Given the description of an element on the screen output the (x, y) to click on. 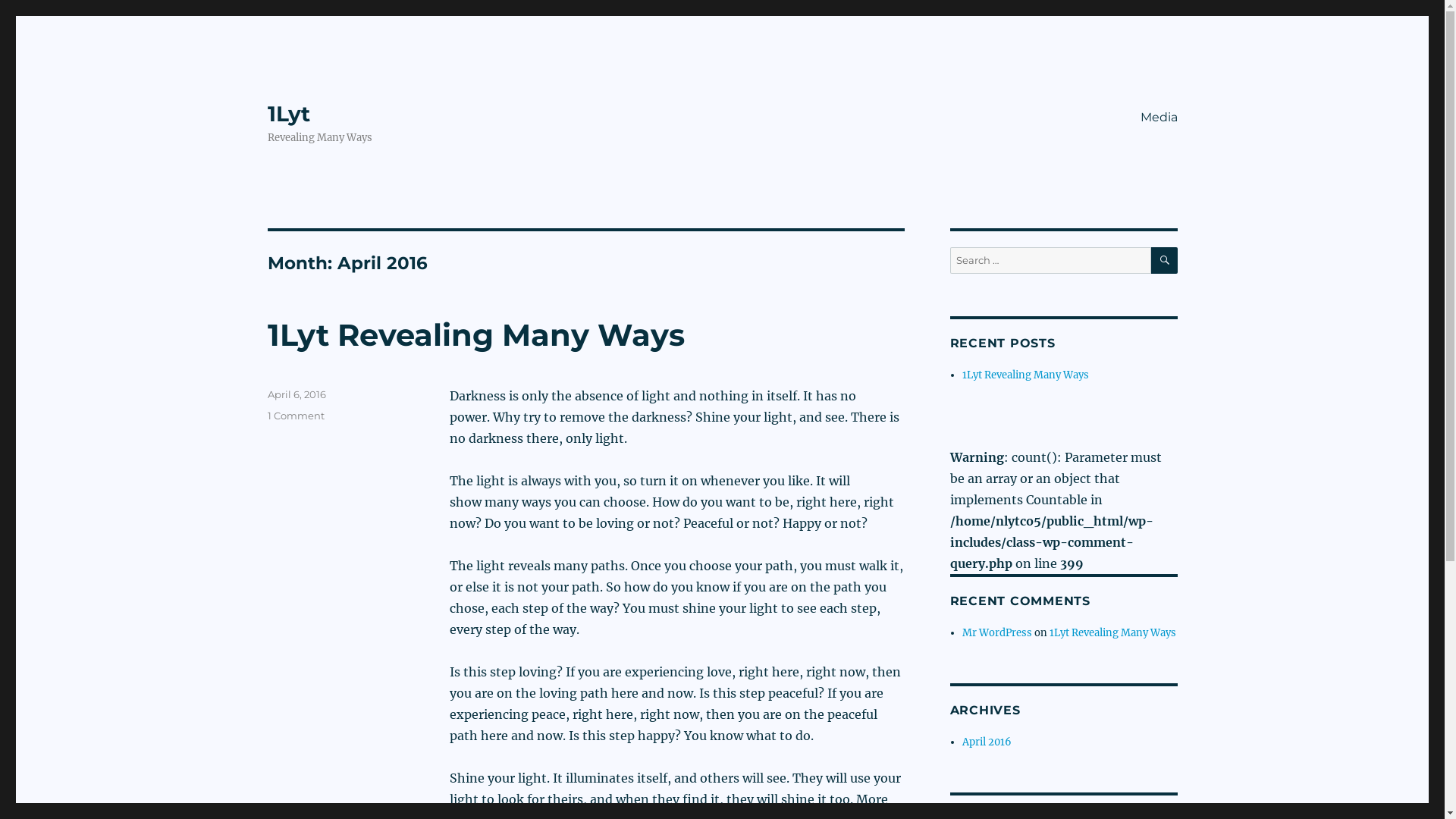
Mr WordPress Element type: text (997, 632)
April 6, 2016 Element type: text (295, 394)
SEARCH Element type: text (1164, 260)
1Lyt Element type: text (287, 113)
1 Comment
on 1Lyt Revealing Many Ways Element type: text (294, 415)
April 2016 Element type: text (986, 741)
1Lyt Revealing Many Ways Element type: text (1112, 632)
Search for: Element type: hover (1049, 260)
1Lyt Revealing Many Ways Element type: text (1025, 374)
Media Element type: text (1158, 116)
1Lyt Revealing Many Ways Element type: text (475, 334)
